Given the description of an element on the screen output the (x, y) to click on. 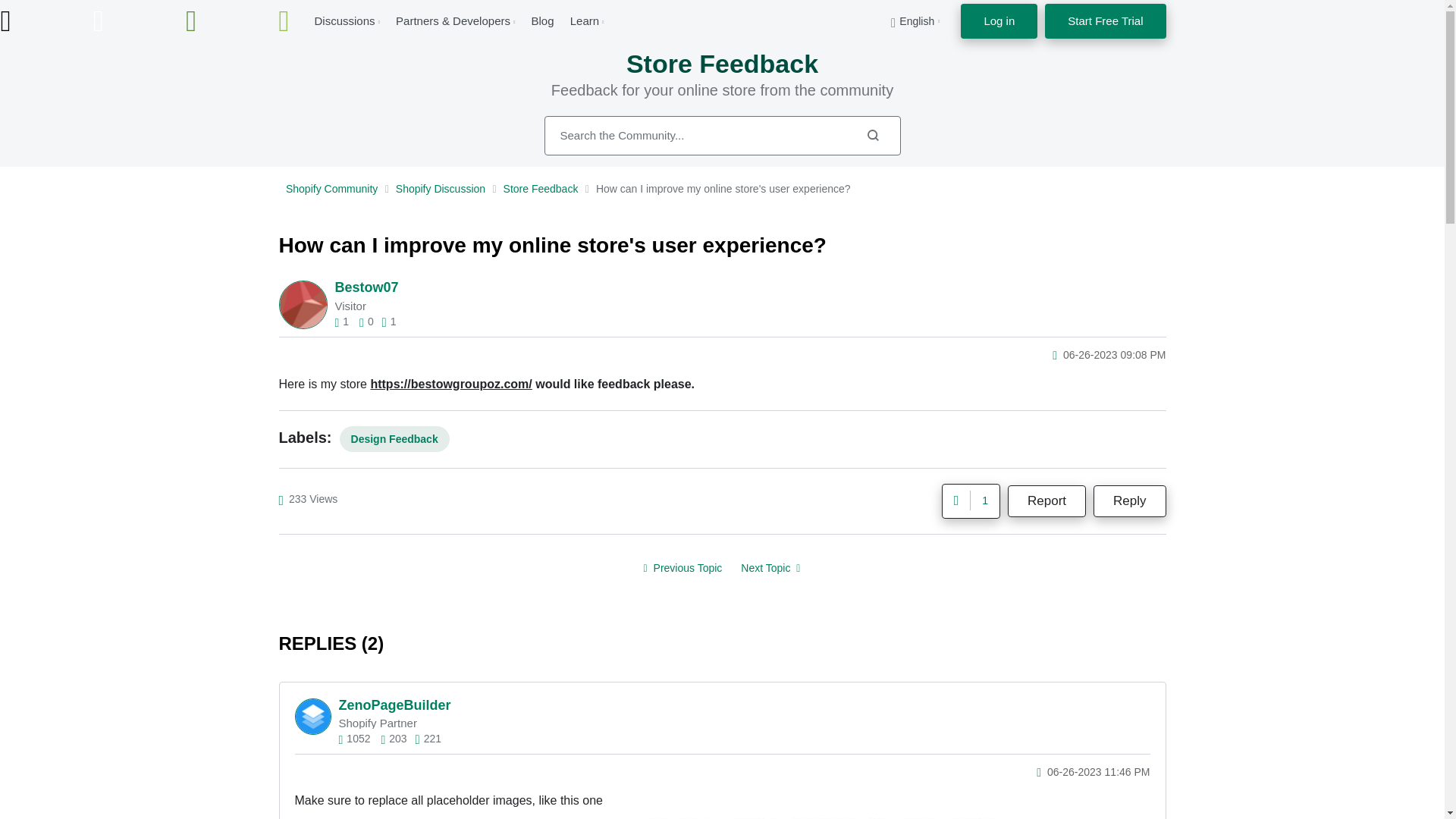
Search (722, 135)
Discussions (344, 20)
Search (872, 135)
Search (872, 135)
